Given the description of an element on the screen output the (x, y) to click on. 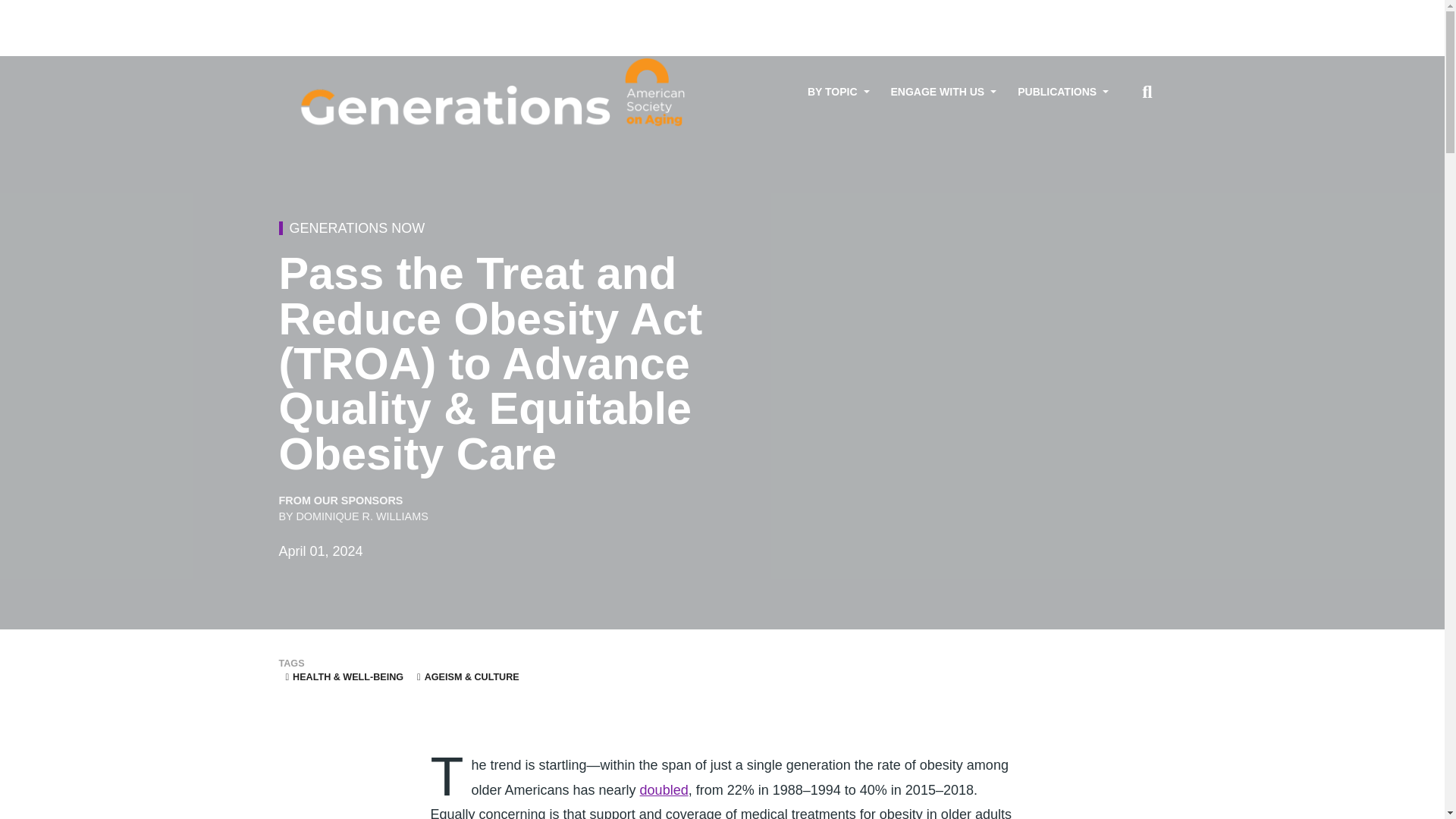
Join ASA (1096, 13)
Login (1142, 13)
PUBLICATIONS (1063, 92)
ENGAGE WITH US (943, 92)
Login (1142, 13)
Home (495, 91)
Learn more, get involved, listen to our podcasts (943, 92)
